Given the description of an element on the screen output the (x, y) to click on. 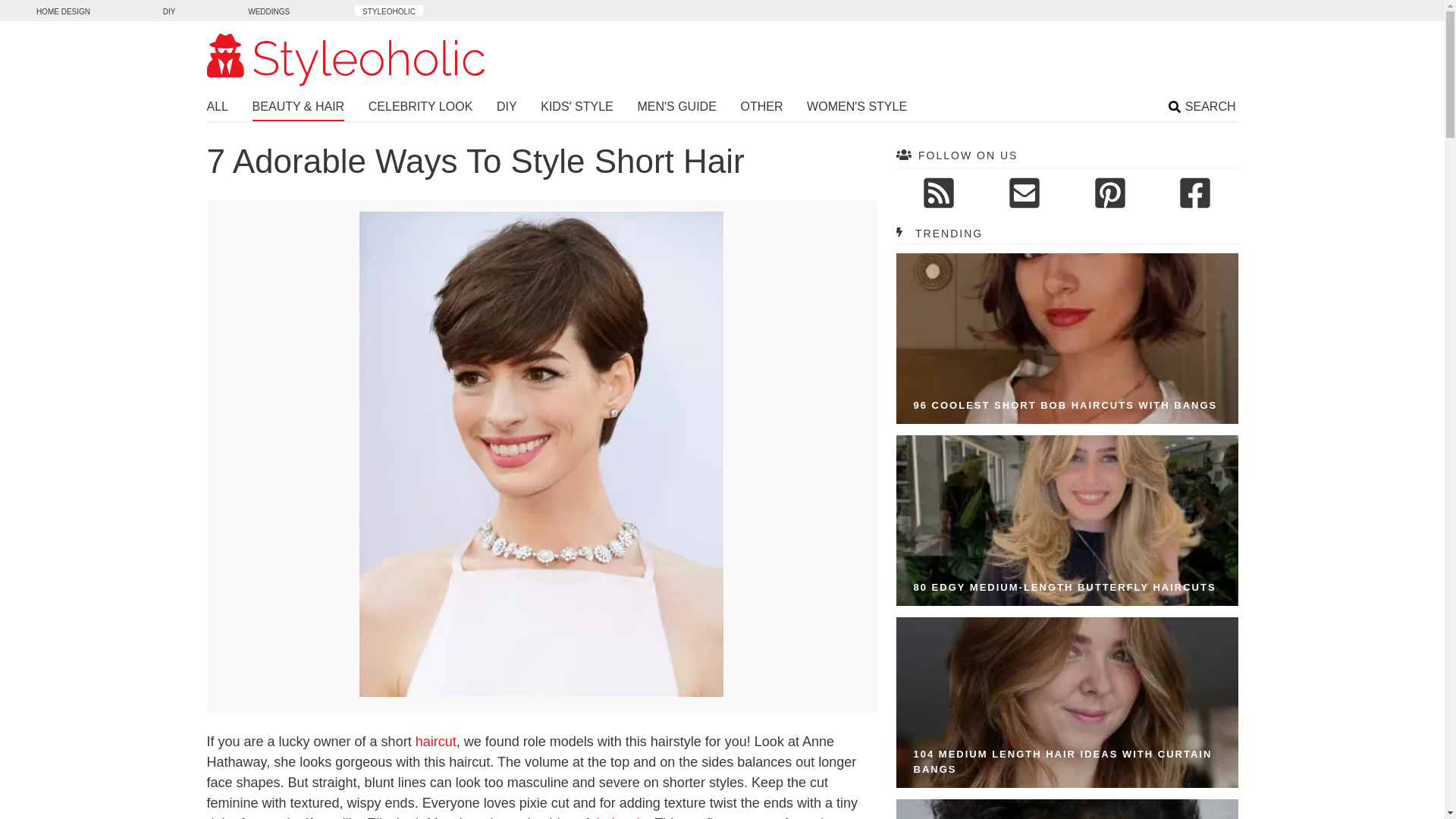
OTHER (761, 108)
DIY (169, 9)
ALL (216, 108)
SEARCH (1202, 108)
KIDS' STYLE (576, 108)
WEDDINGS (268, 9)
WOMEN'S STYLE (856, 108)
Wedding Ideas and Inspirations (268, 9)
HOME DESIGN (63, 9)
